Given the description of an element on the screen output the (x, y) to click on. 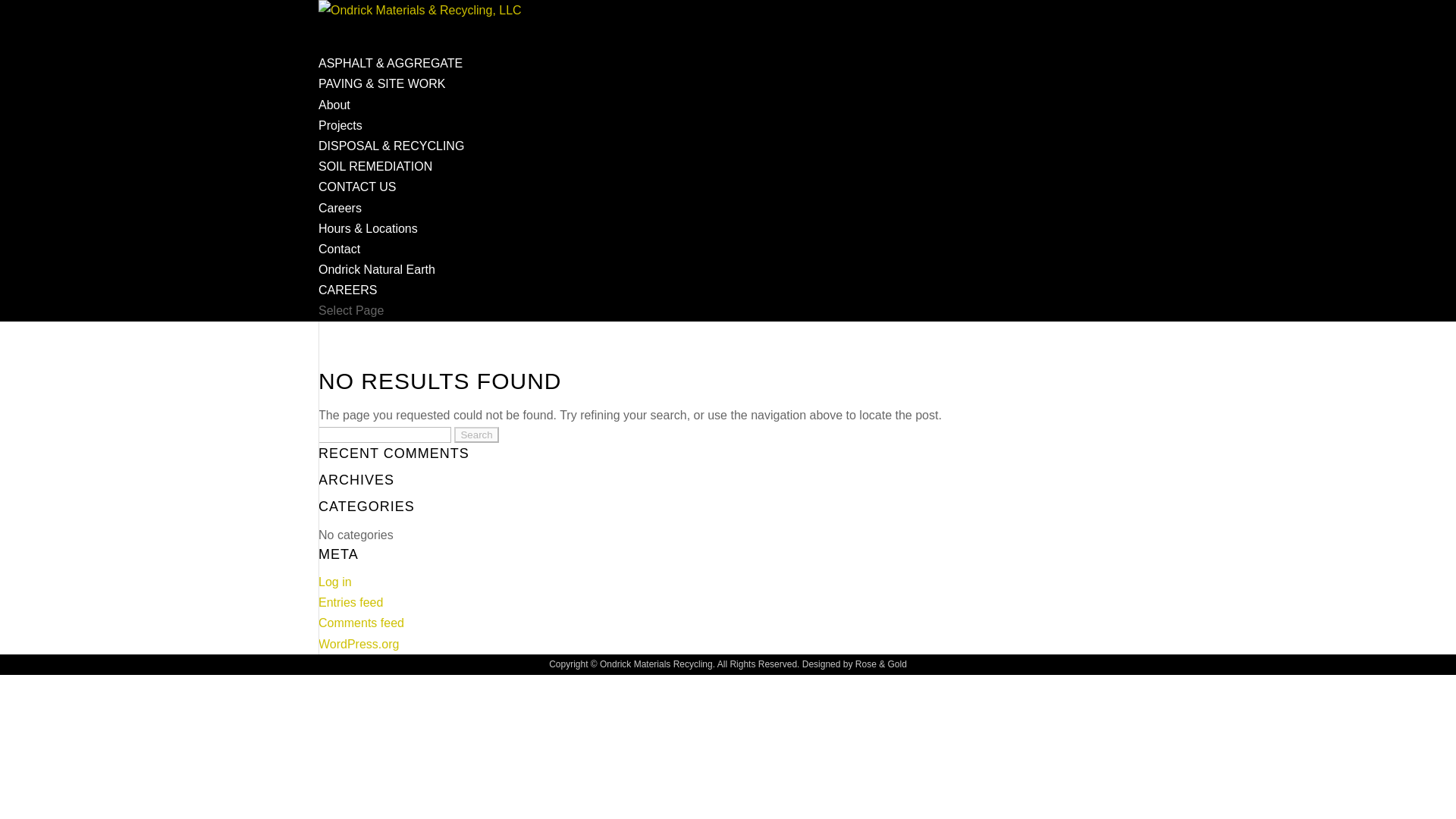
Log in (335, 581)
Search (475, 434)
Ondrick Natural Earth (376, 269)
CAREERS (347, 306)
Careers (339, 207)
About (334, 104)
Entries feed (350, 602)
SOIL REMEDIATION (375, 182)
WordPress.org (358, 643)
CONTACT US (357, 203)
Contact (338, 248)
Comments feed (361, 622)
Search (475, 434)
Projects (340, 124)
